Given the description of an element on the screen output the (x, y) to click on. 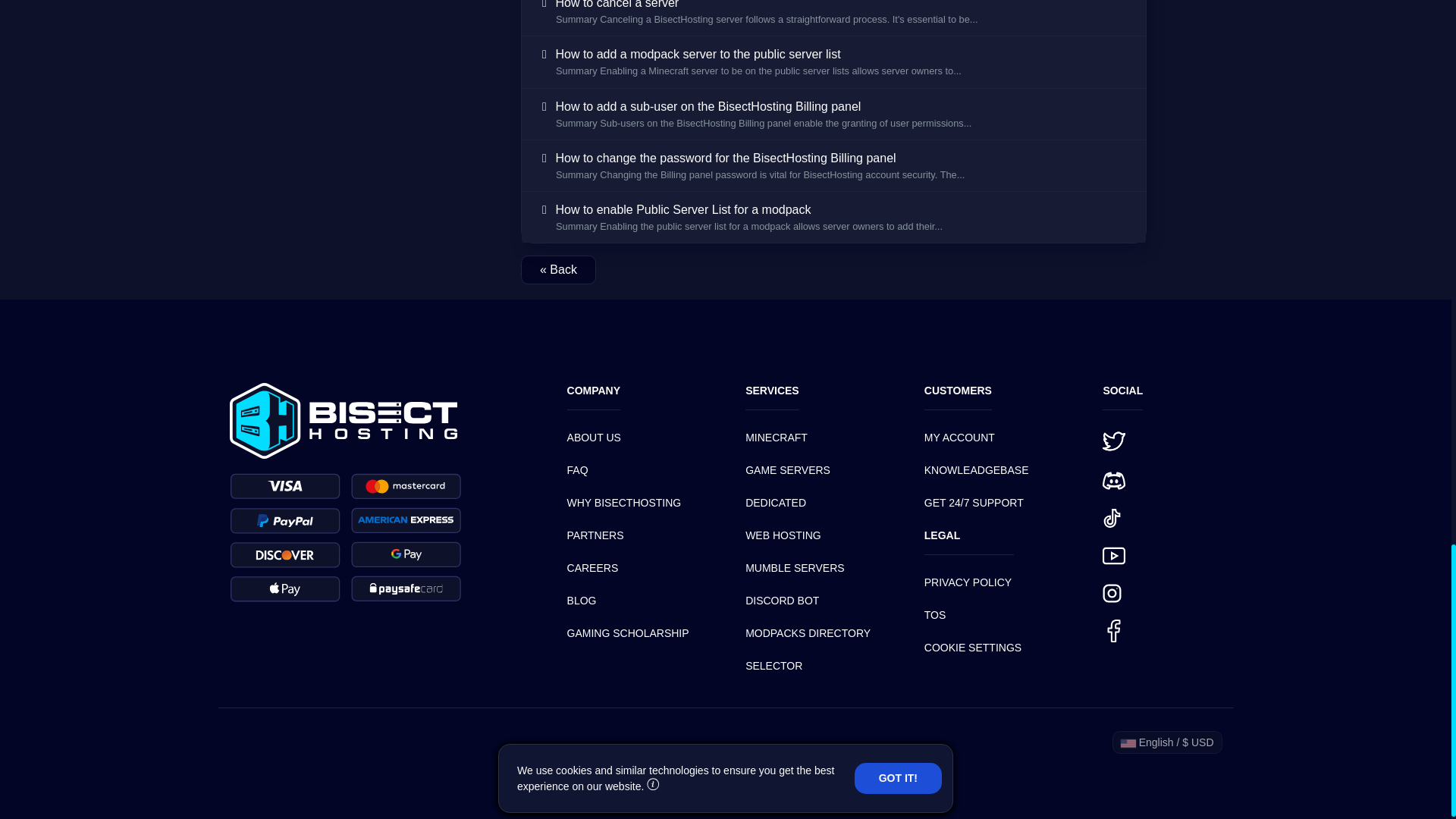
Twitter (1113, 440)
Facebook (1113, 630)
Youtube (1113, 555)
Tiktok (1111, 517)
Discord (1113, 480)
Instagram (1111, 592)
